Given the description of an element on the screen output the (x, y) to click on. 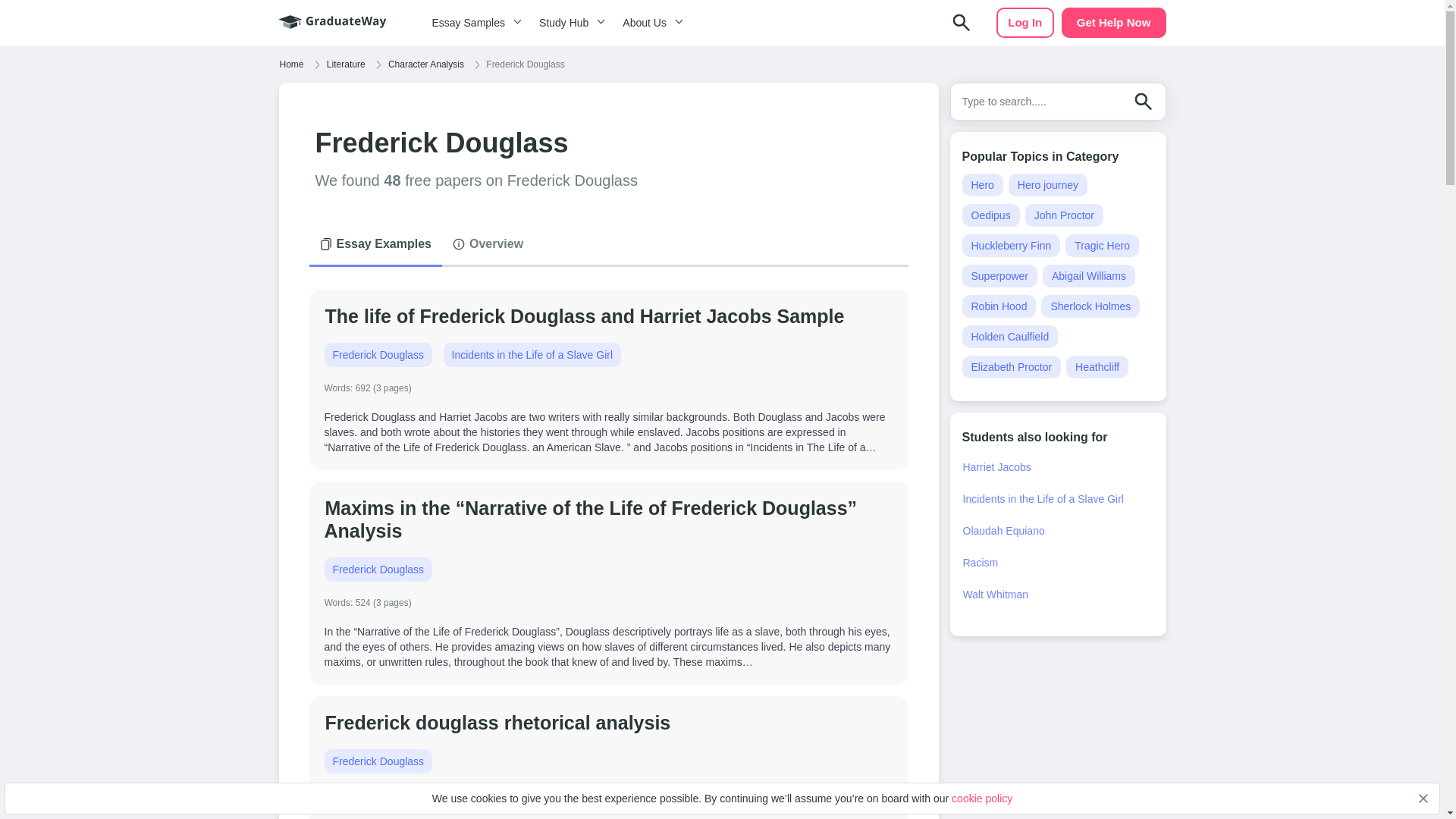
Study Hub (569, 22)
Home (291, 64)
Character Analysis (425, 64)
Essay Samples (473, 22)
Frederick douglass rhetorical analysis (497, 722)
Literature (346, 64)
About Us (649, 22)
The life of Frederick Douglass and Harriet Jacobs Sample (584, 315)
